Given the description of an element on the screen output the (x, y) to click on. 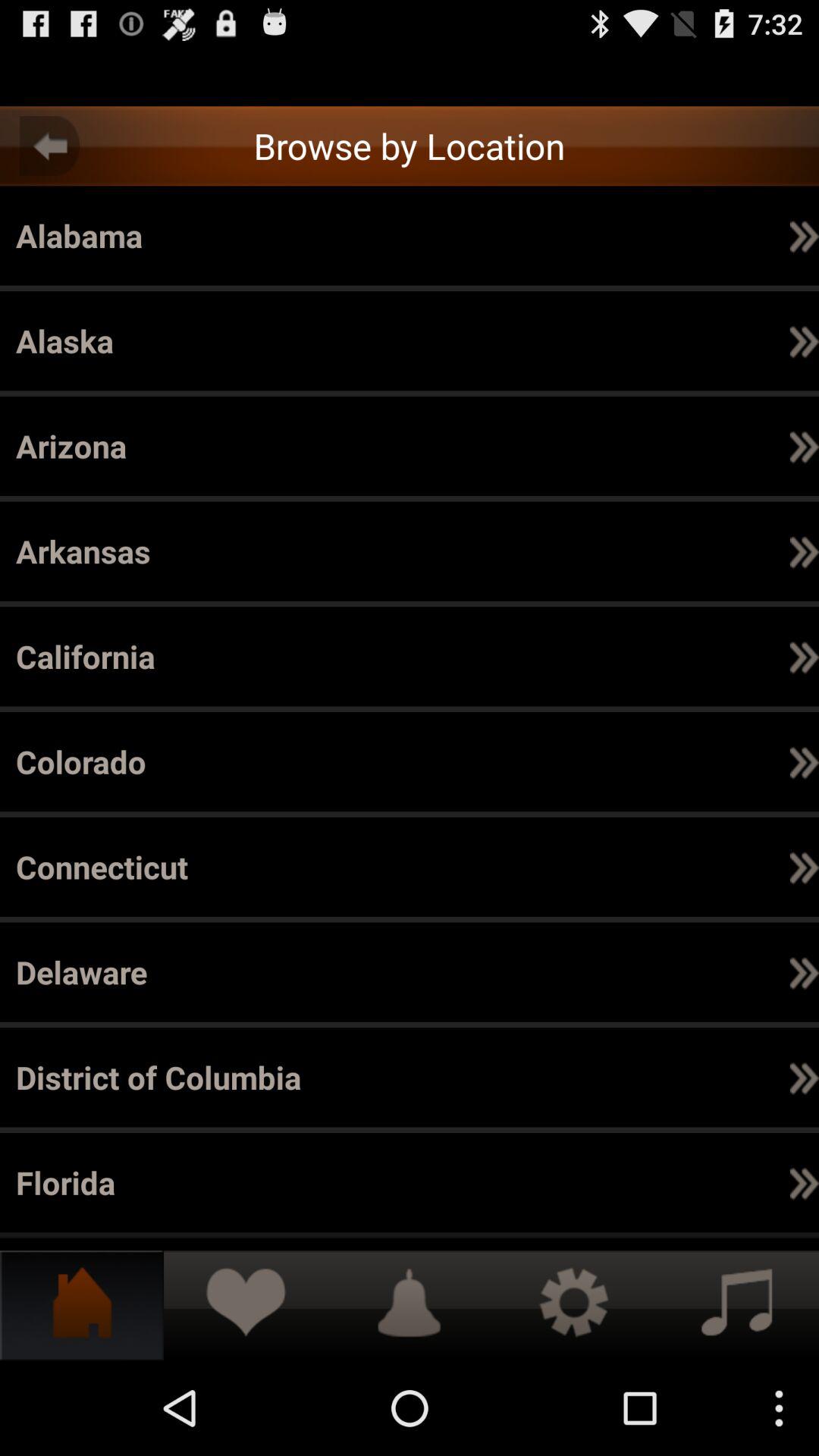
select icon above (804, 1076)
